Given the description of an element on the screen output the (x, y) to click on. 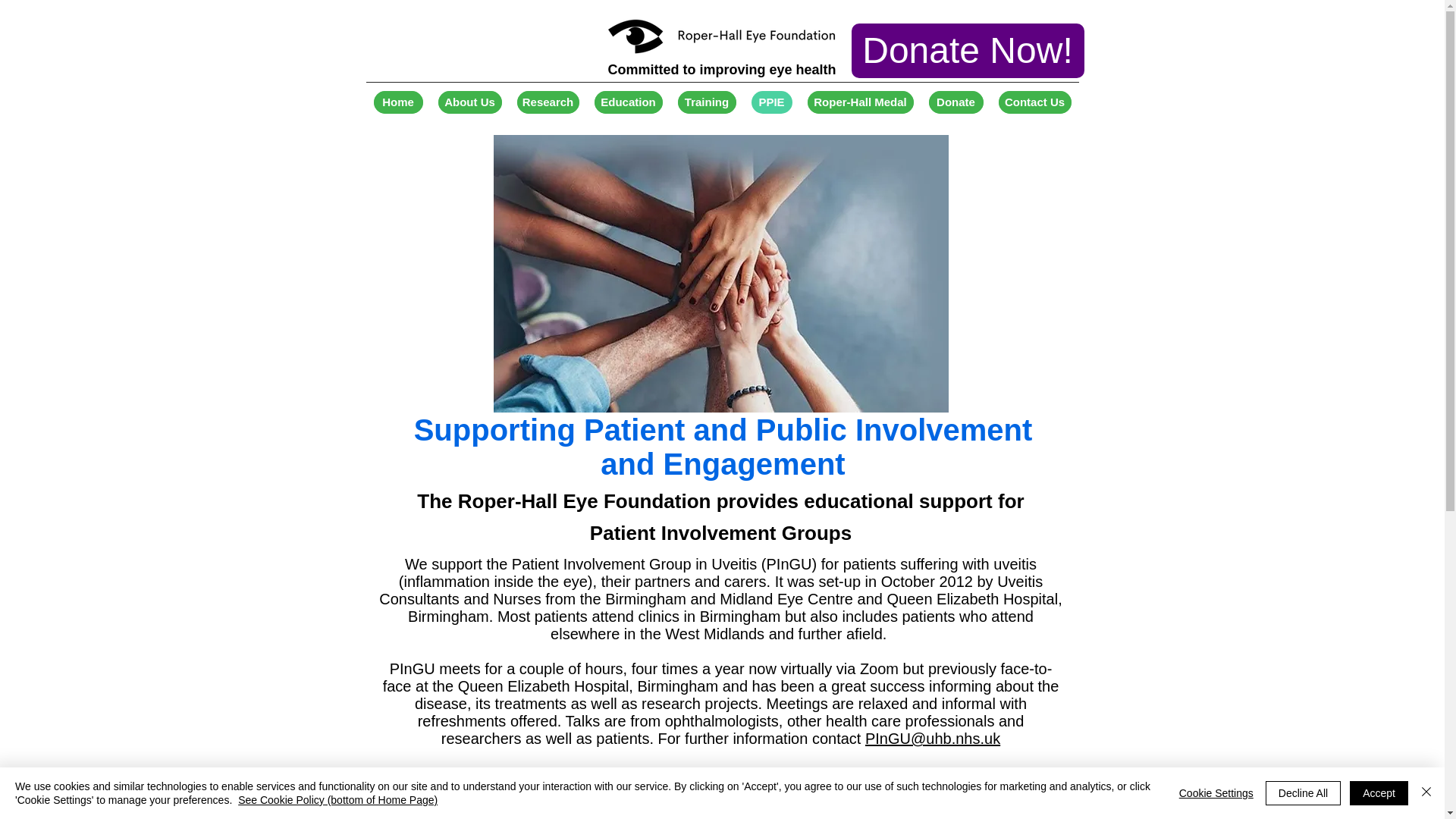
Donate Now! (966, 50)
Research (547, 101)
Donate (955, 101)
form (1031, 790)
PPIE (771, 101)
Contact Us (1033, 101)
Home (397, 101)
Education (628, 101)
Roper-Hall Medal (859, 101)
Training (707, 101)
